Given the description of an element on the screen output the (x, y) to click on. 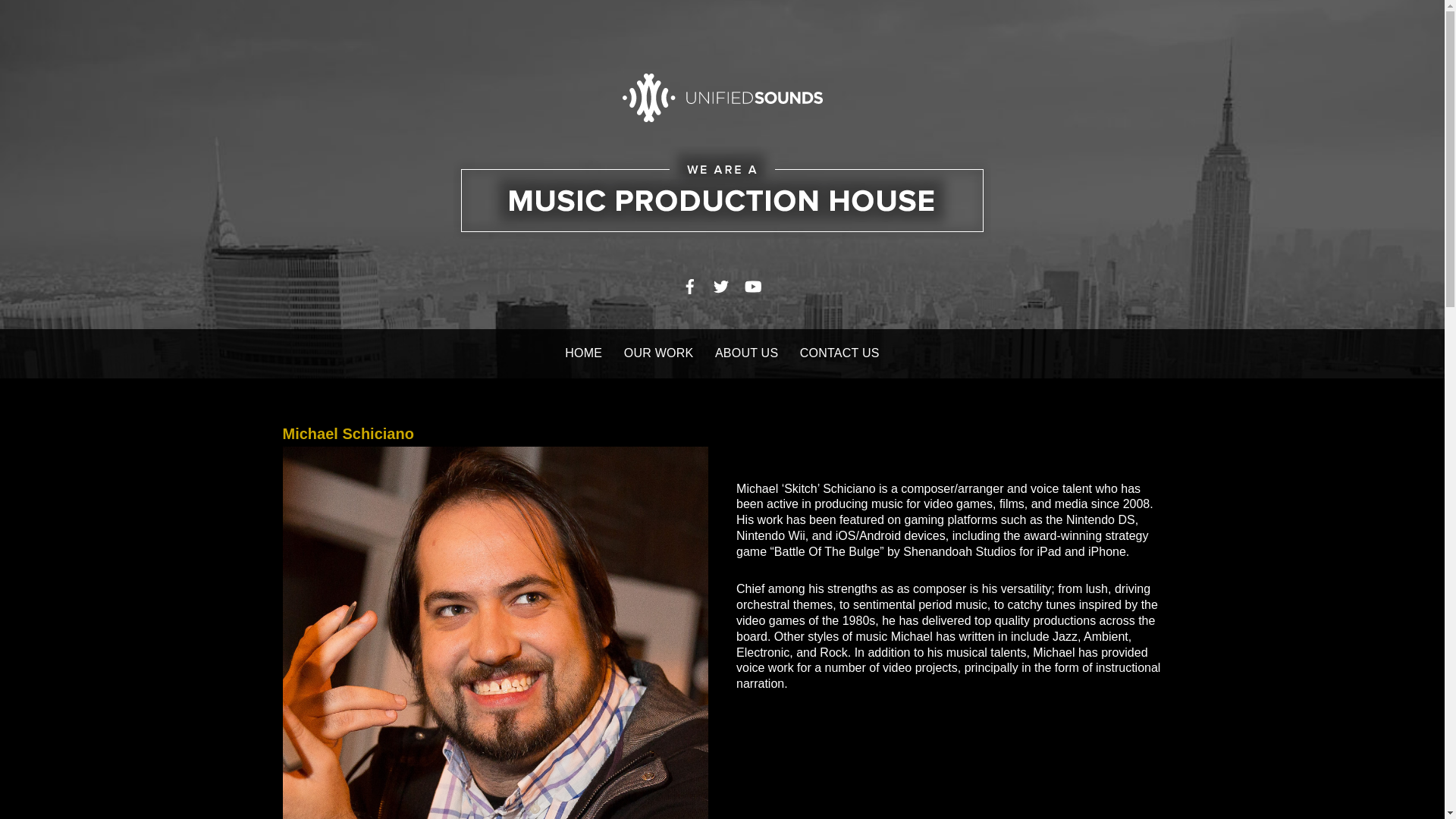
Michael Schiciano (347, 433)
Unified Sounds (721, 106)
ABOUT US (745, 353)
OUR WORK (659, 353)
Michael Schiciano (347, 433)
CONTACT US (839, 353)
PageLines-weare.png (721, 192)
